Given the description of an element on the screen output the (x, y) to click on. 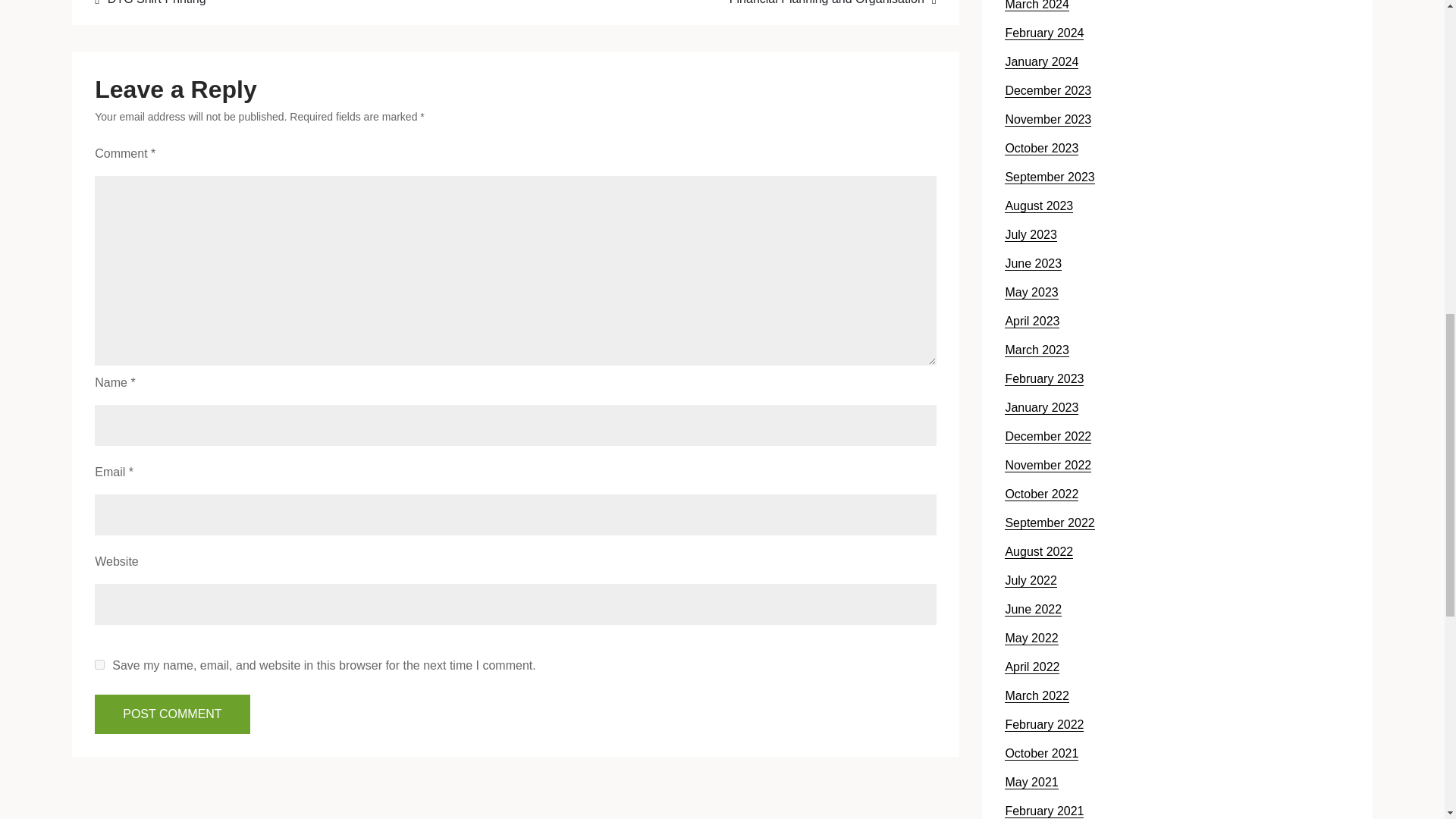
November 2023 (1047, 119)
Post Comment (171, 713)
September 2023 (1049, 177)
October 2023 (1041, 148)
December 2023 (1047, 90)
August 2023 (1038, 205)
Post Comment (171, 713)
June 2023 (1032, 264)
May 2023 (1031, 292)
February 2024 (1043, 33)
DTG Shirt Printing (295, 4)
January 2024 (1041, 61)
yes (99, 664)
July 2023 (1030, 234)
Financial Planning and Organisation (735, 4)
